Given the description of an element on the screen output the (x, y) to click on. 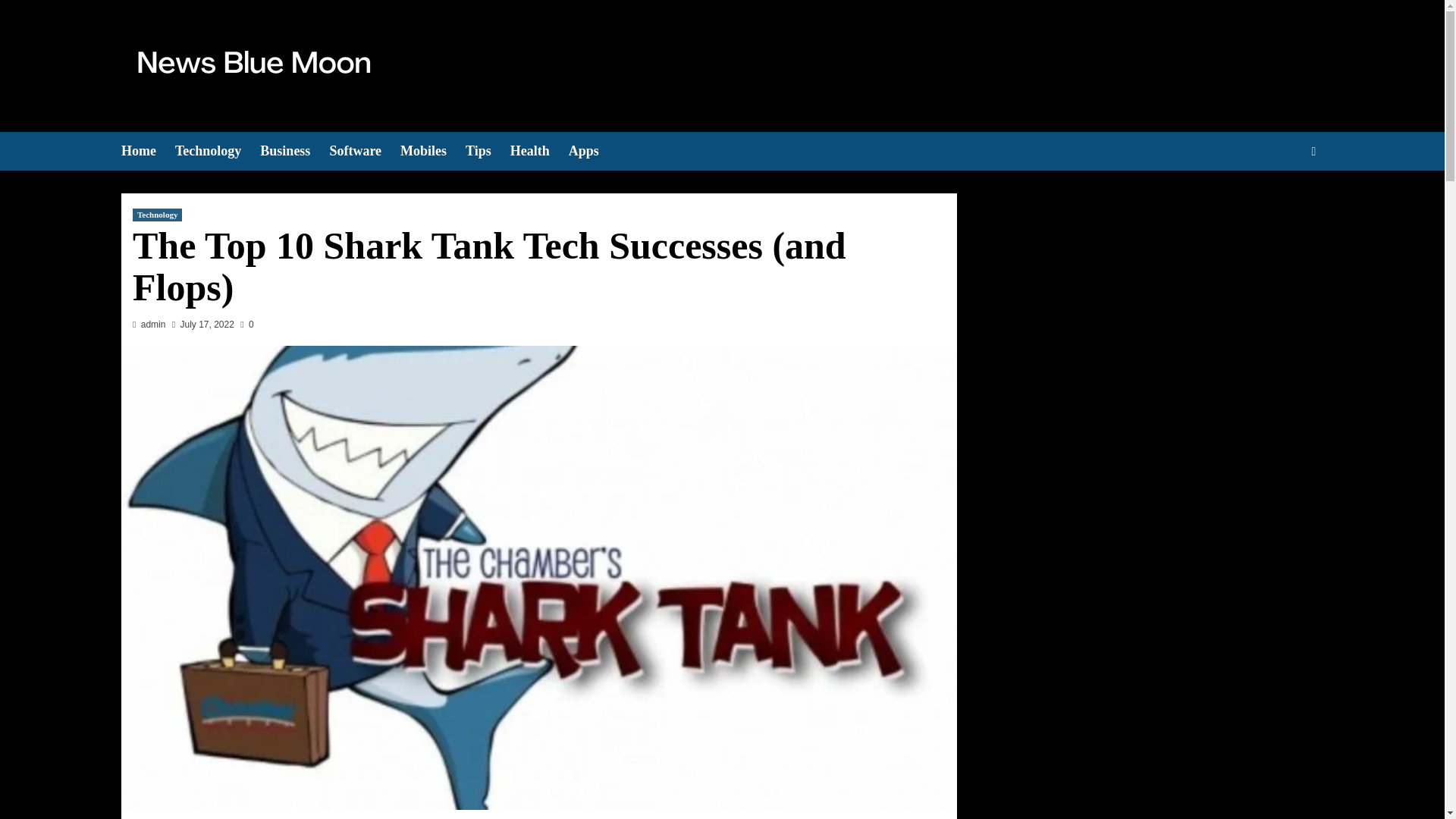
admin (153, 324)
July 17, 2022 (207, 324)
Business (294, 150)
Home (147, 150)
Tips (488, 150)
0 (246, 324)
Apps (593, 150)
Health (540, 150)
Software (364, 150)
Technology (217, 150)
